Given the description of an element on the screen output the (x, y) to click on. 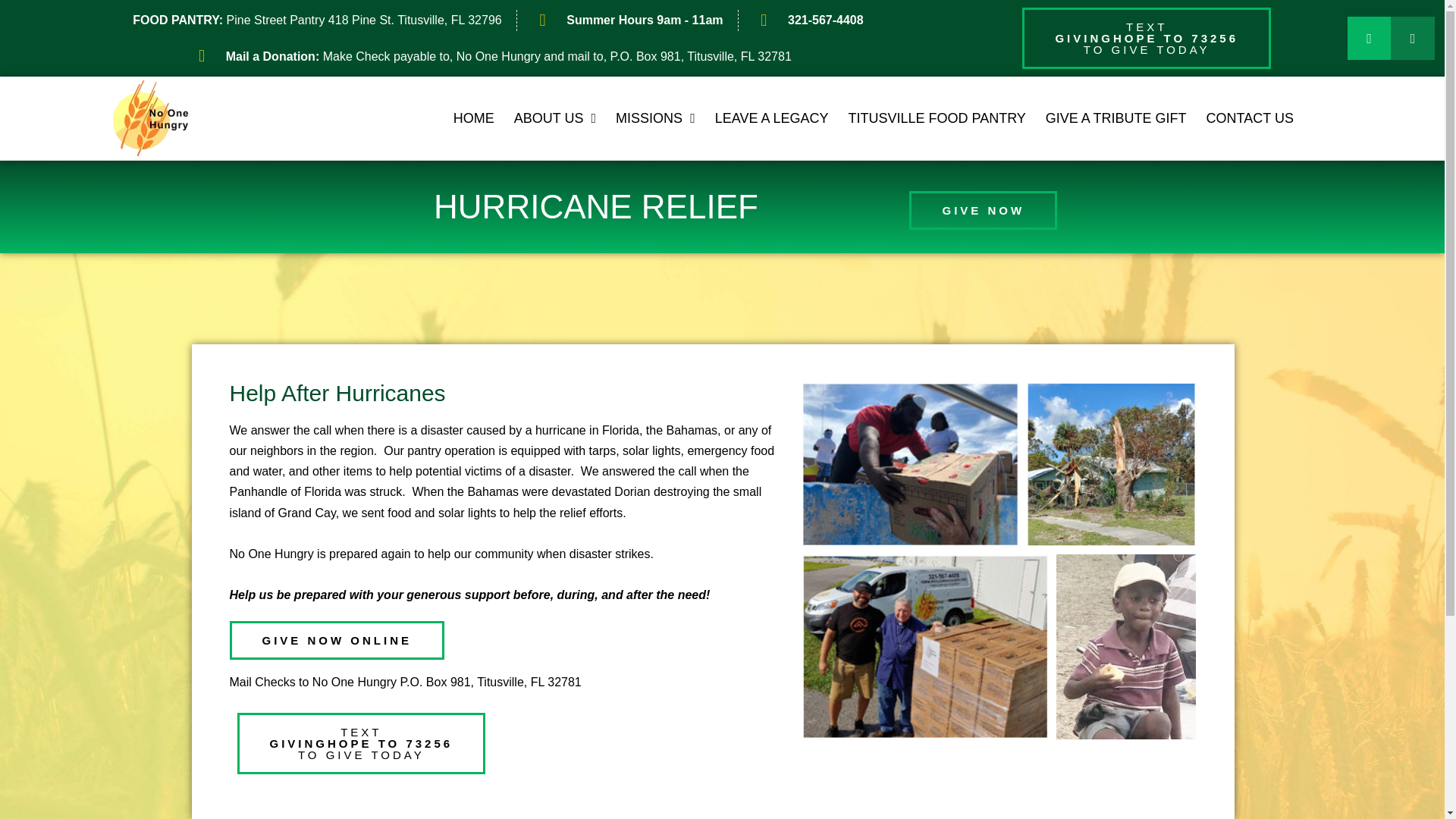
MISSIONS (654, 117)
logo (151, 118)
GIVE A TRIBUTE GIFT (1115, 117)
ABOUT US (554, 117)
LEAVE A LEGACY (771, 117)
CONTACT US (1249, 117)
321-567-4408 (1146, 37)
TITUSVILLE FOOD PANTRY (808, 19)
HOME (936, 117)
